Given the description of an element on the screen output the (x, y) to click on. 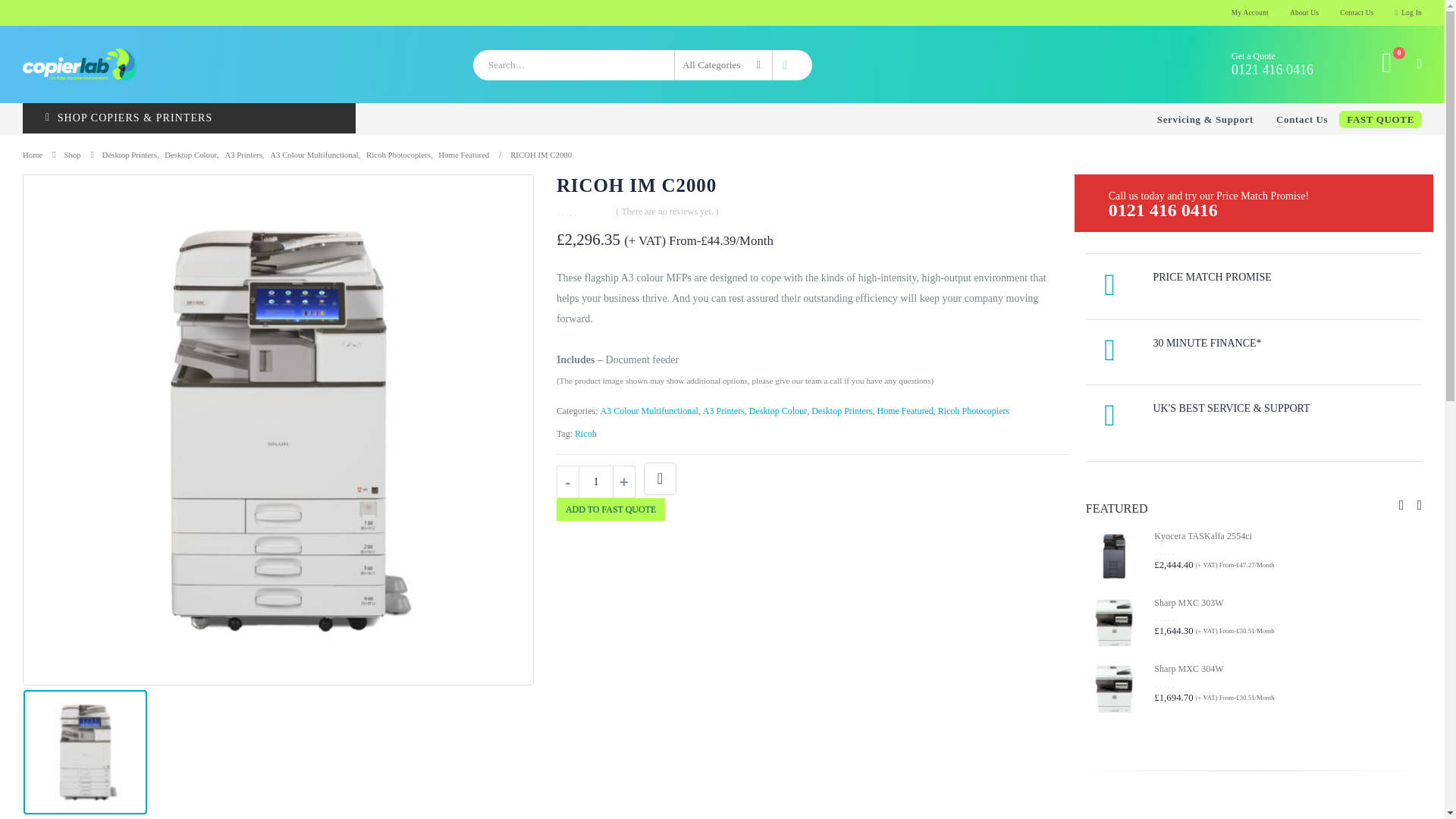
Desktop Colour (190, 154)
Ricoh (585, 434)
Ricoh Photocopiers (398, 154)
Desktop Printers (841, 411)
Ricoh Photocopiers (973, 411)
Contact Us (1302, 119)
Qty (595, 481)
A3 Printers (243, 154)
Home Featured (905, 411)
Log In (1403, 12)
FAST QUOTE (1380, 118)
A3 Printers (723, 411)
A3 Colour Multifunctional (313, 154)
Desktop Printers (129, 154)
